Given the description of an element on the screen output the (x, y) to click on. 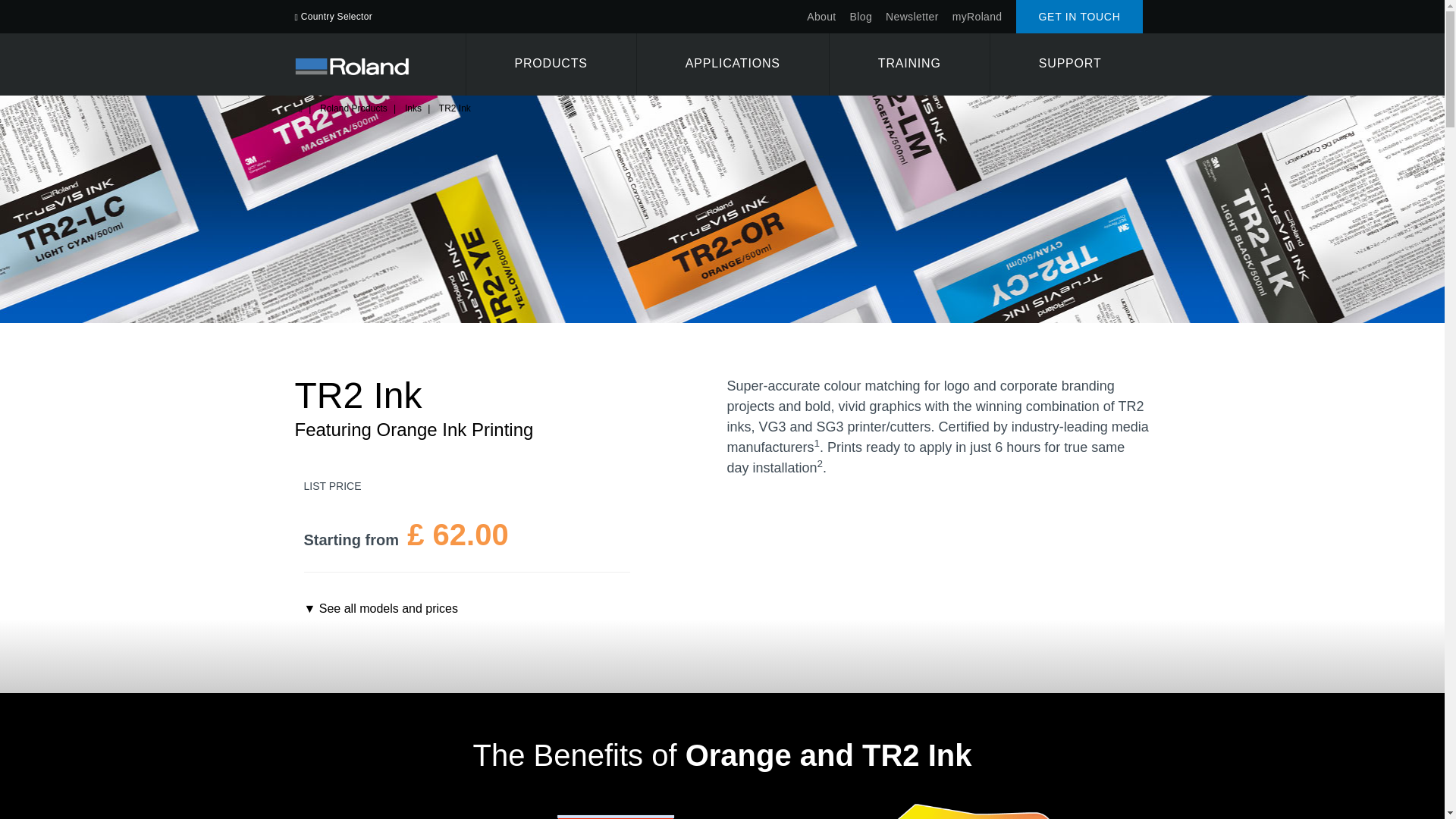
PRODUCTS (549, 64)
myRoland (977, 15)
Blog (861, 15)
Newsletter (912, 15)
GET IN TOUCH (1079, 16)
 Country Selector (333, 15)
About (820, 15)
